Given the description of an element on the screen output the (x, y) to click on. 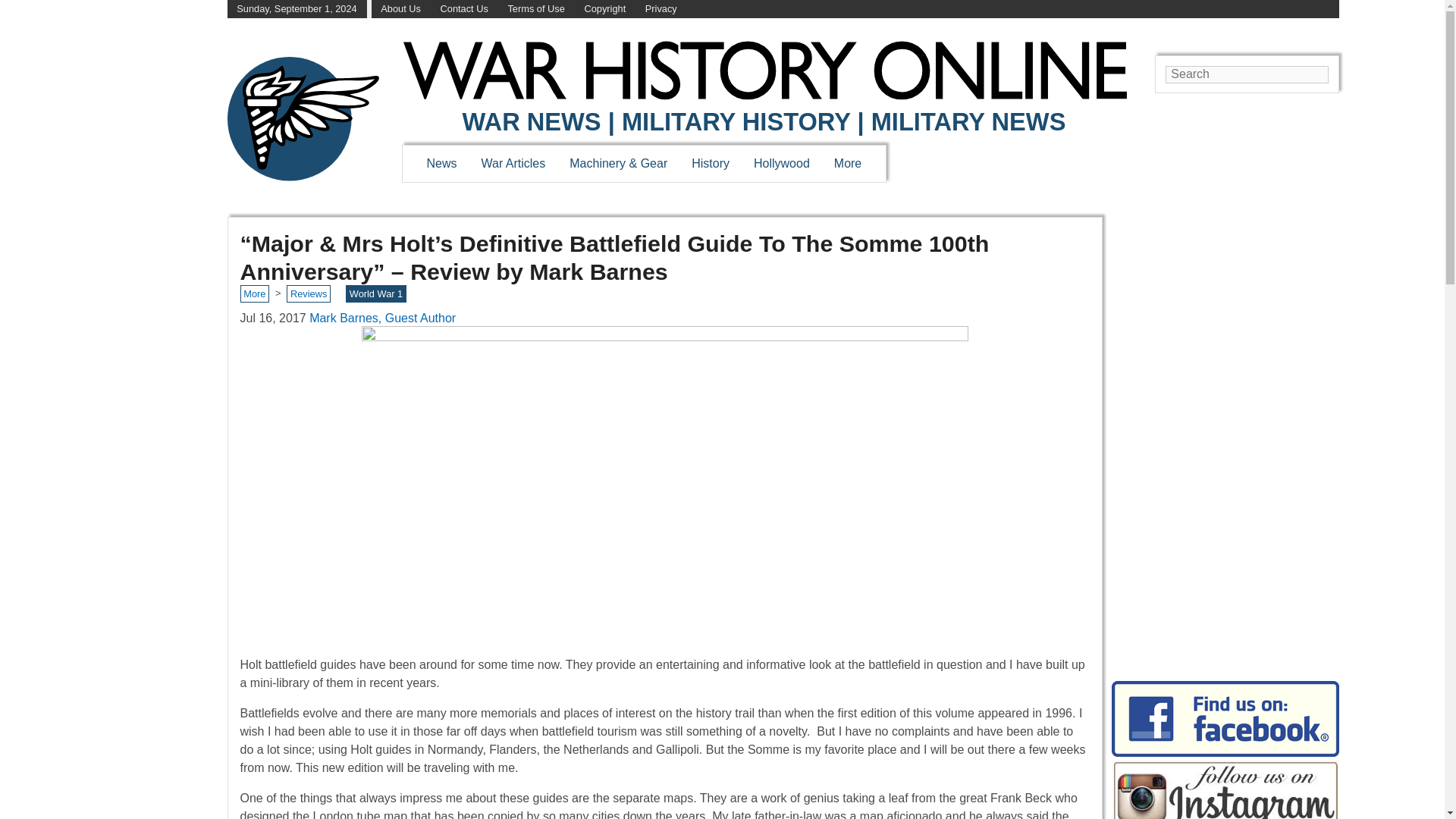
Terms of Use (535, 8)
More (847, 163)
News (441, 163)
About Us (400, 8)
History (710, 163)
War Articles (513, 163)
Privacy (661, 8)
Hollywood (781, 163)
Contact Us (464, 8)
Copyright (604, 8)
